Given the description of an element on the screen output the (x, y) to click on. 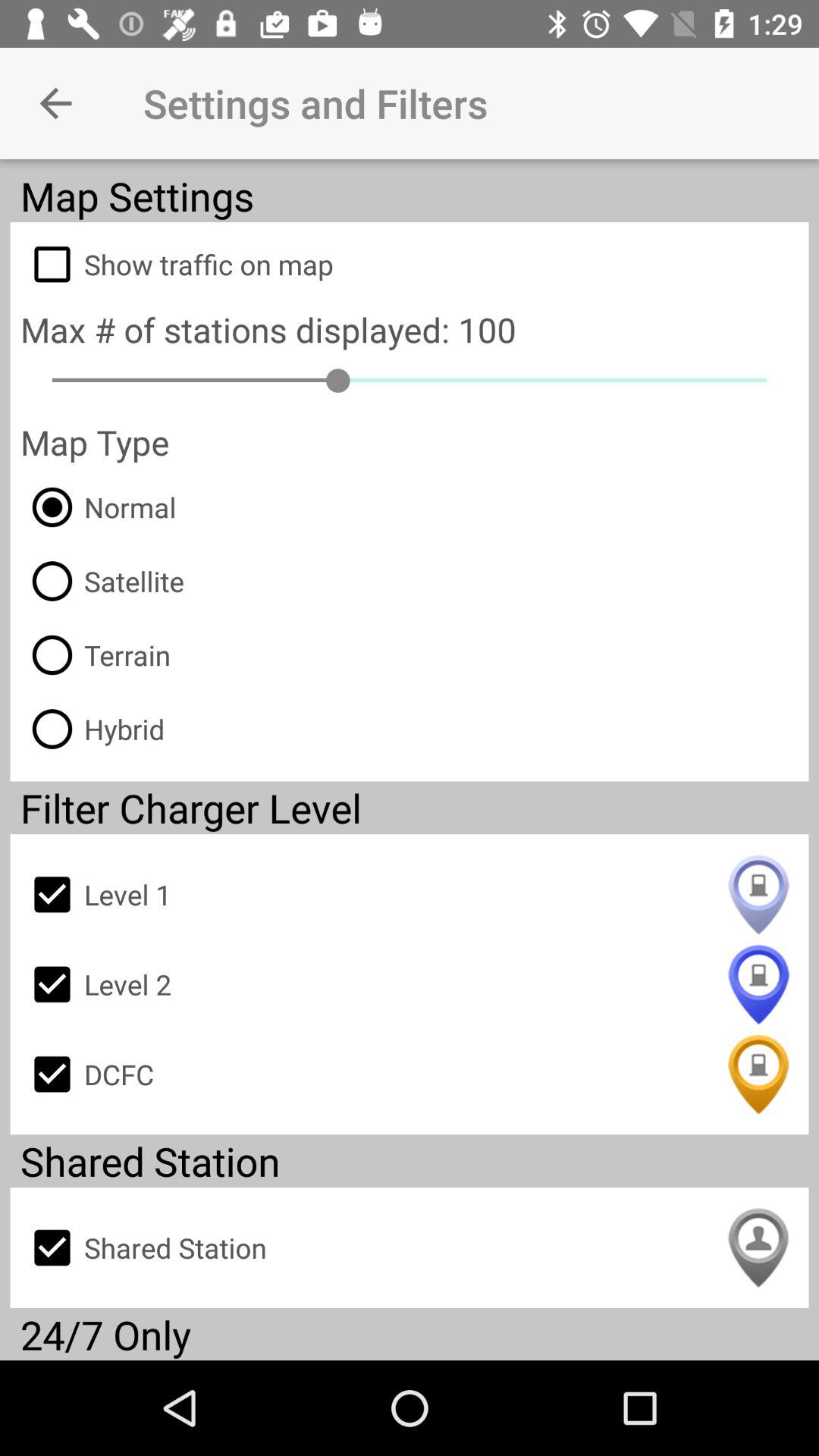
open dcfc item (409, 1074)
